Given the description of an element on the screen output the (x, y) to click on. 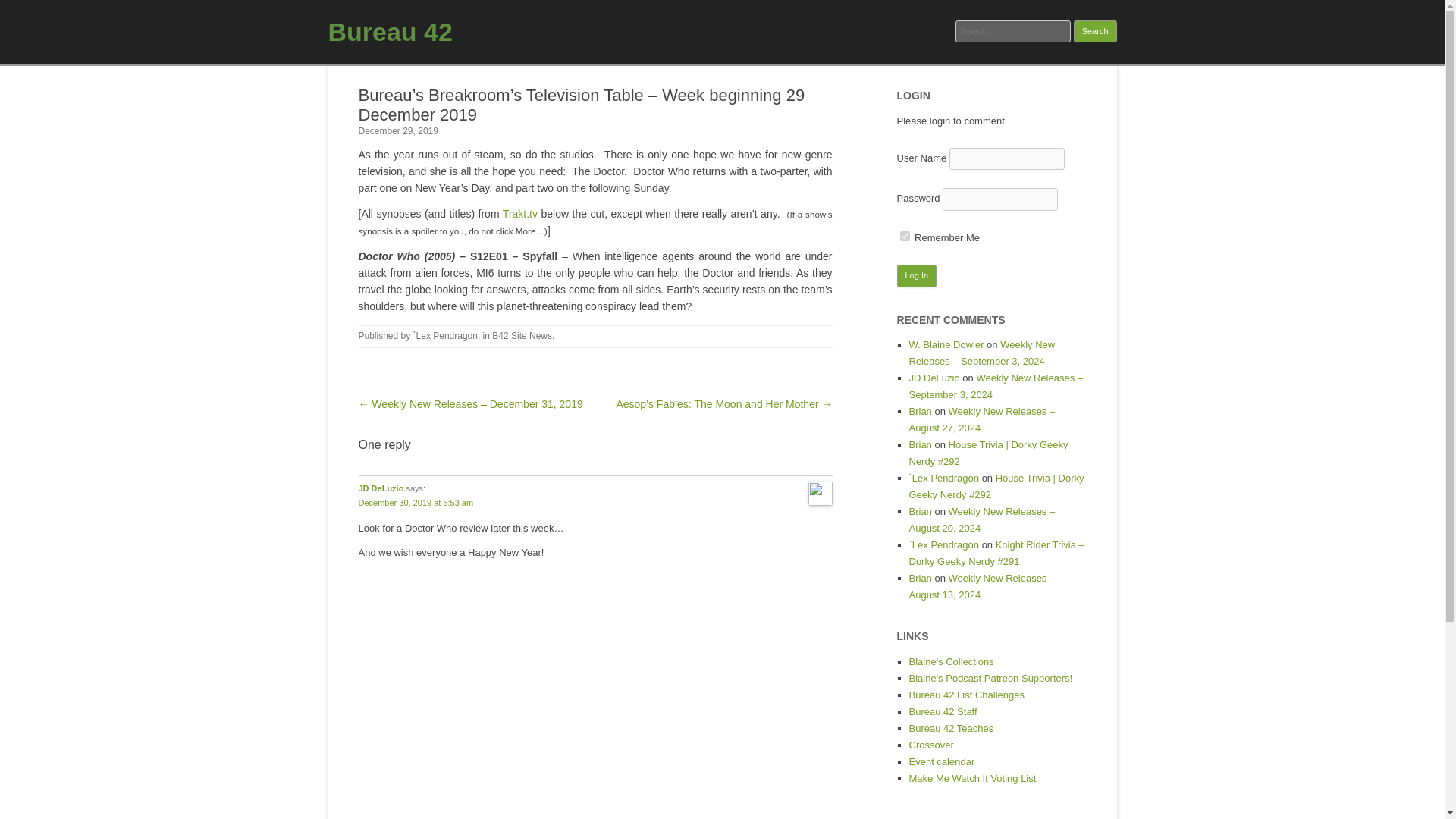
Log In (916, 275)
Trakt.tv (519, 214)
Crossover (930, 745)
Bureau 42 Teaches (950, 727)
W. Blaine Dowler (946, 344)
Bureau 42 (389, 31)
The home of our new annual list challenges. (966, 695)
JD DeLuzio (933, 378)
Log In (916, 275)
December 30, 2019 at 5:53 am (415, 501)
